Given the description of an element on the screen output the (x, y) to click on. 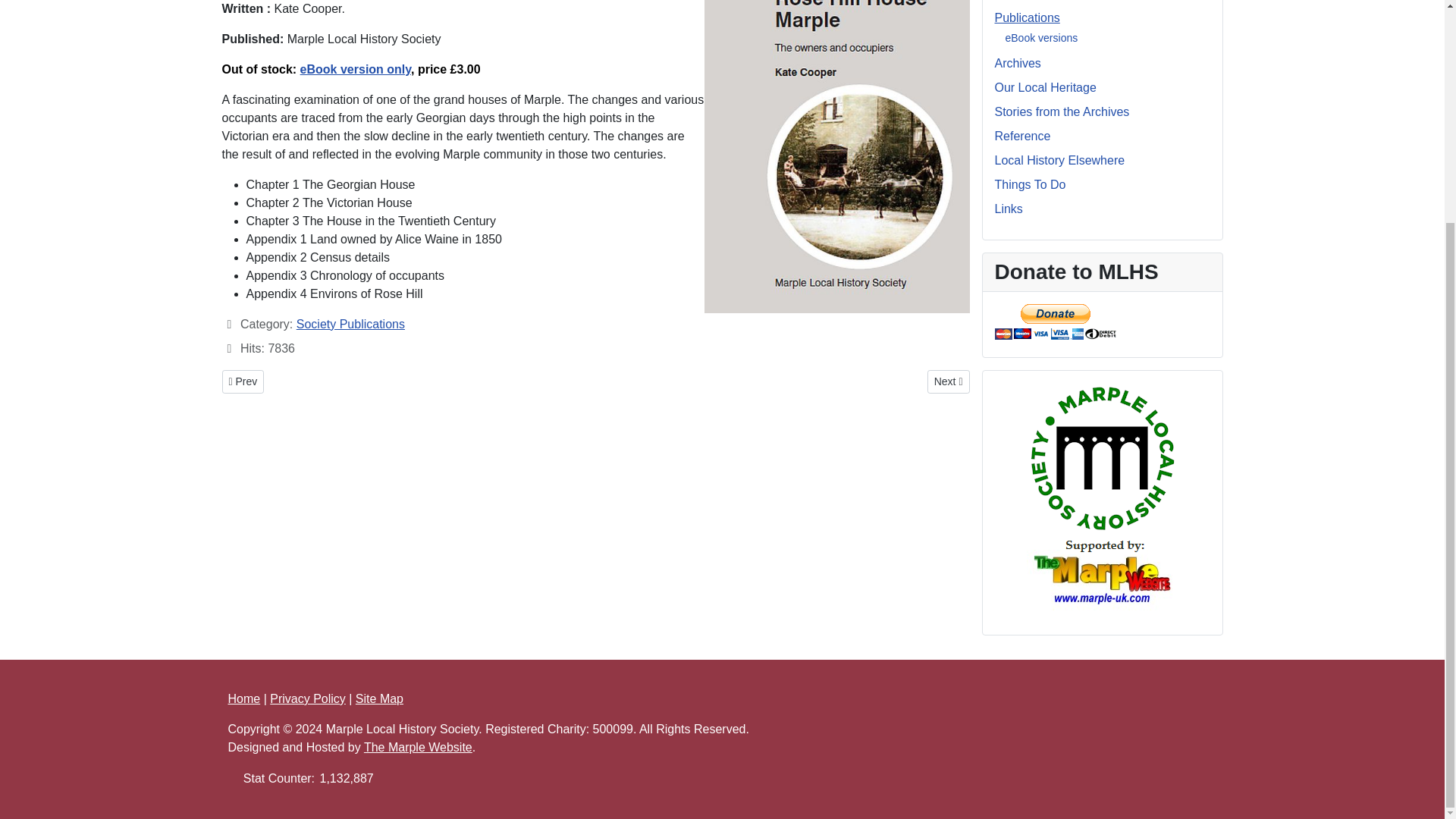
Archives (1017, 62)
Our Local Heritage (1045, 87)
Reference (1022, 135)
The Marple Website (948, 381)
eBook version only (1101, 571)
Society Publications (354, 69)
Supported by The Marple Website (350, 323)
Publications (1101, 572)
Stories from the Archives (1026, 17)
eBook versions (1061, 111)
PayPal - The safer, easier way to pay online! (1042, 37)
